Given the description of an element on the screen output the (x, y) to click on. 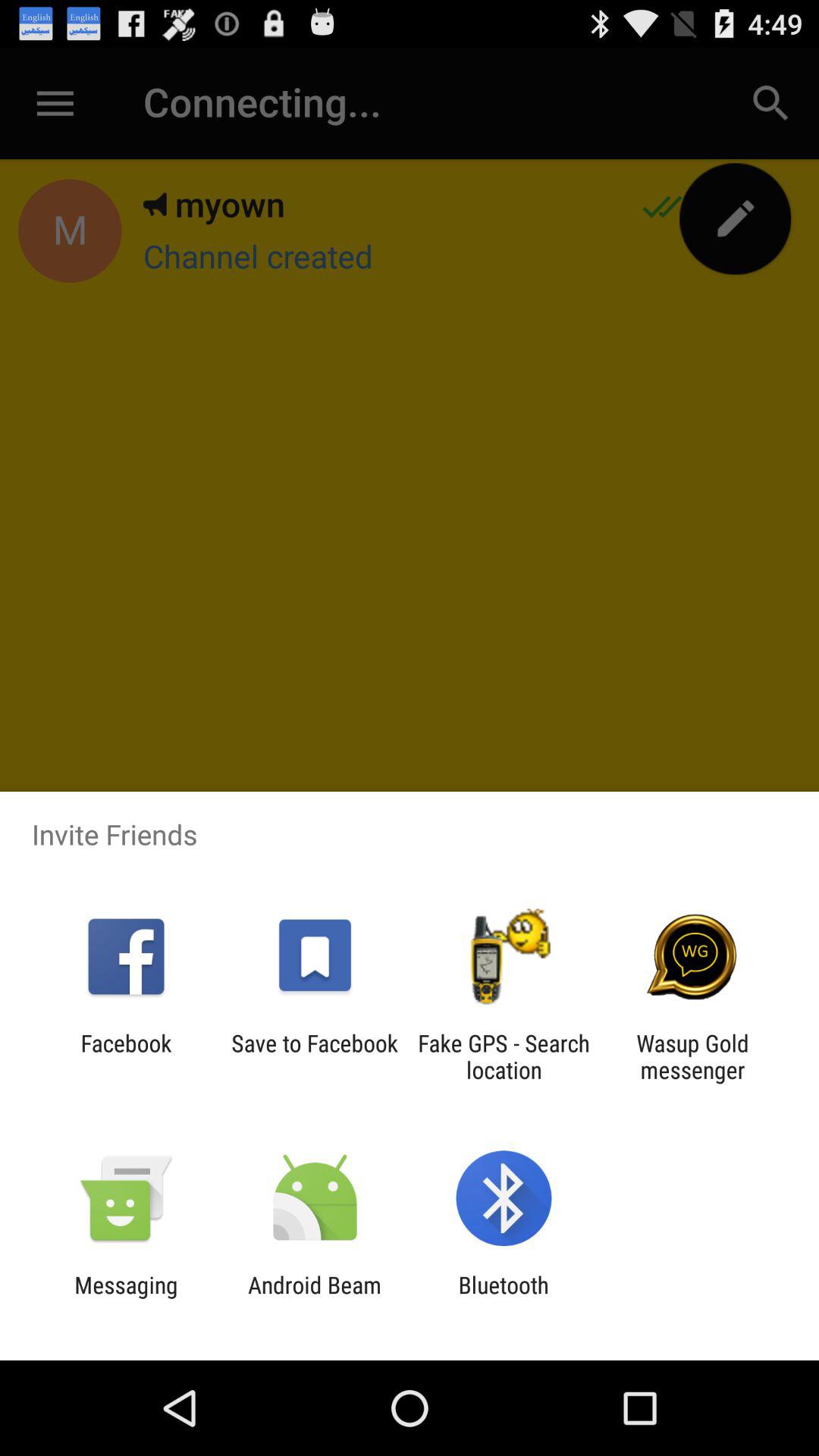
turn off fake gps search app (503, 1056)
